Given the description of an element on the screen output the (x, y) to click on. 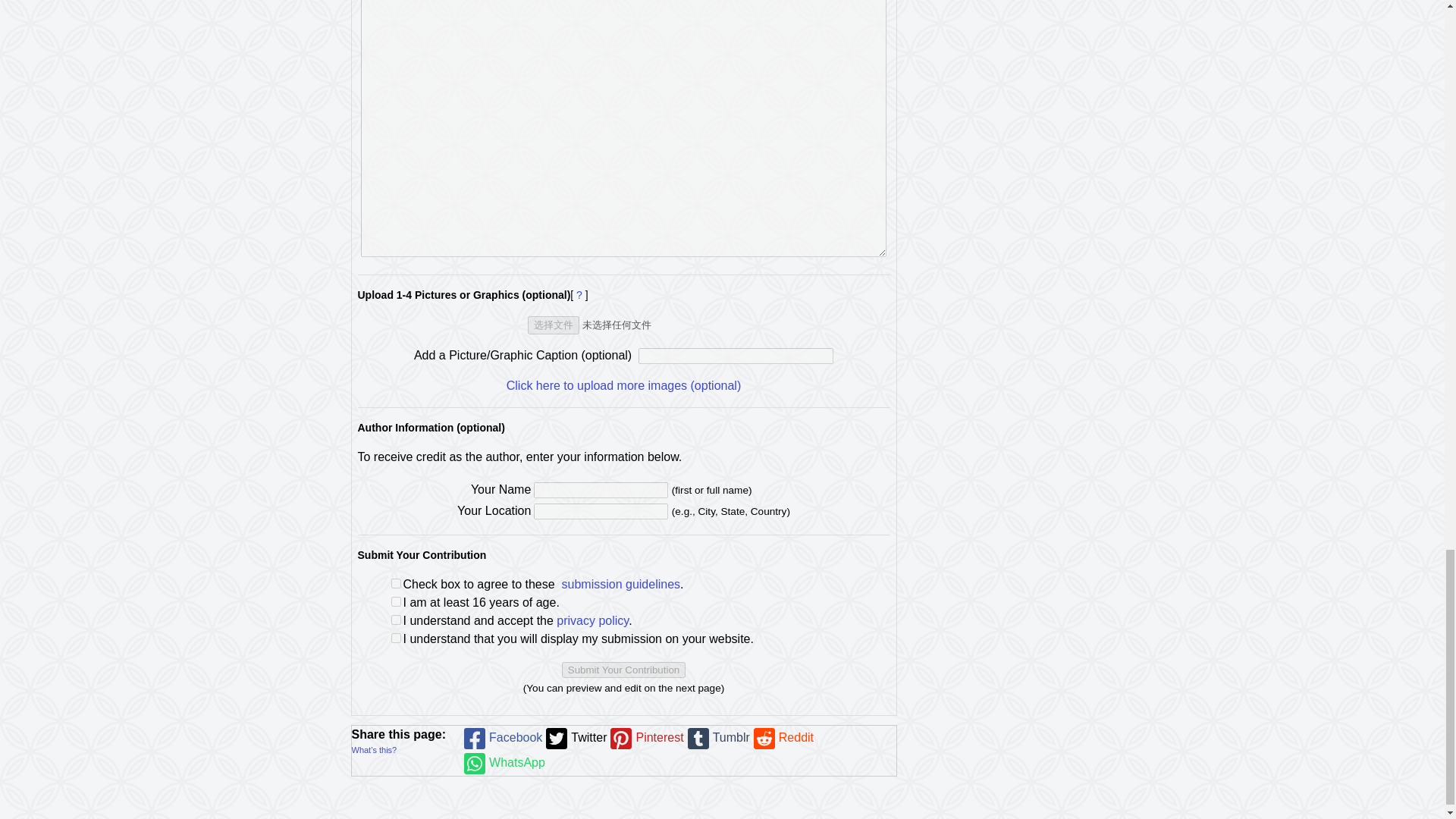
checkbox (396, 583)
1 (396, 637)
1 (396, 601)
1 (396, 619)
Submit Your Contribution (623, 669)
